Given the description of an element on the screen output the (x, y) to click on. 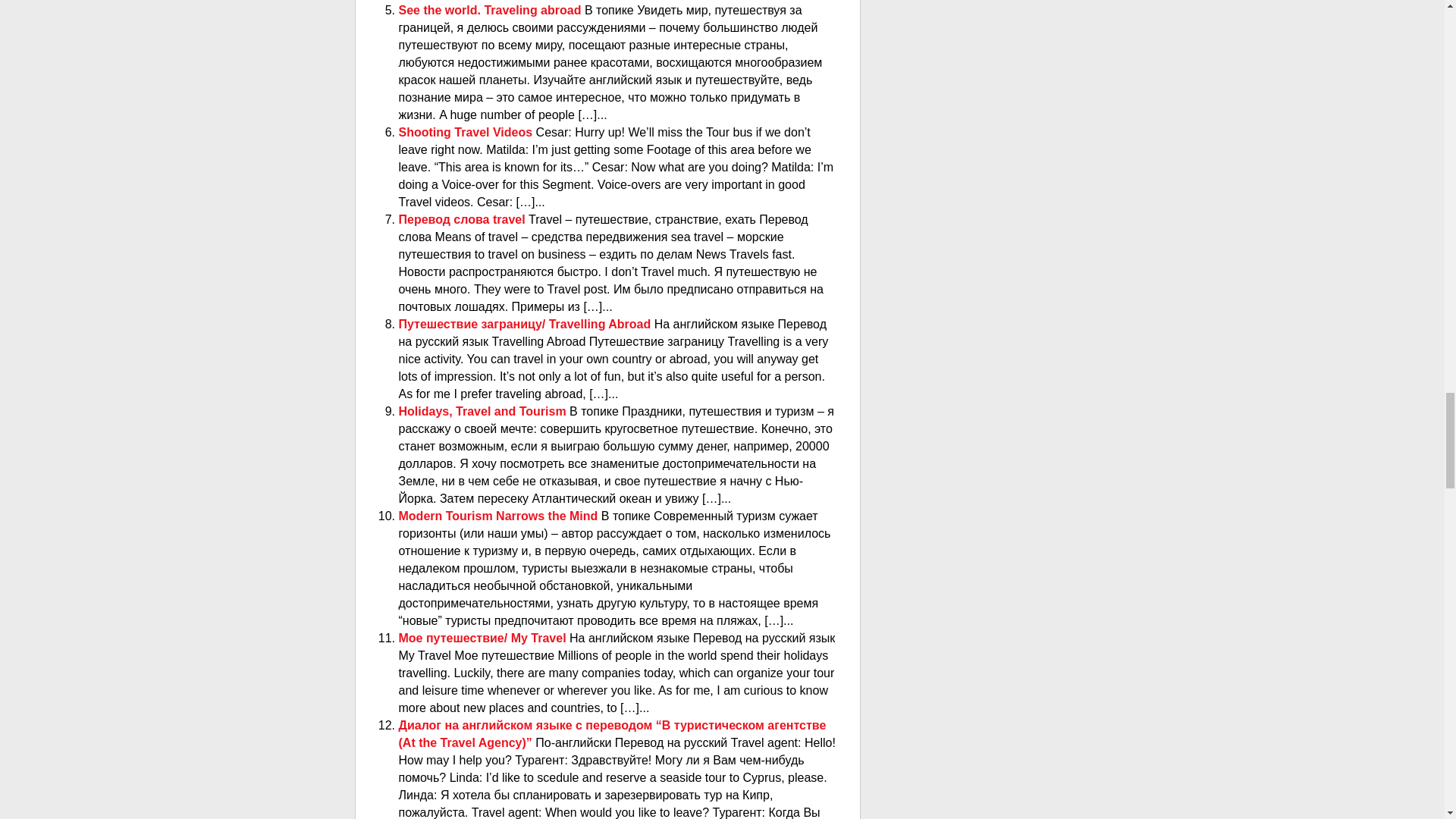
See the world. Traveling abroad (491, 10)
Holidays, Travel and Tourism (484, 410)
Shooting Travel Videos (466, 132)
See the world. Traveling abroad (491, 10)
Modern Tourism Narrows the Mind (499, 515)
Modern Tourism Narrows the Mind (499, 515)
Shooting Travel Videos (466, 132)
Holidays, Travel and Tourism (484, 410)
